Given the description of an element on the screen output the (x, y) to click on. 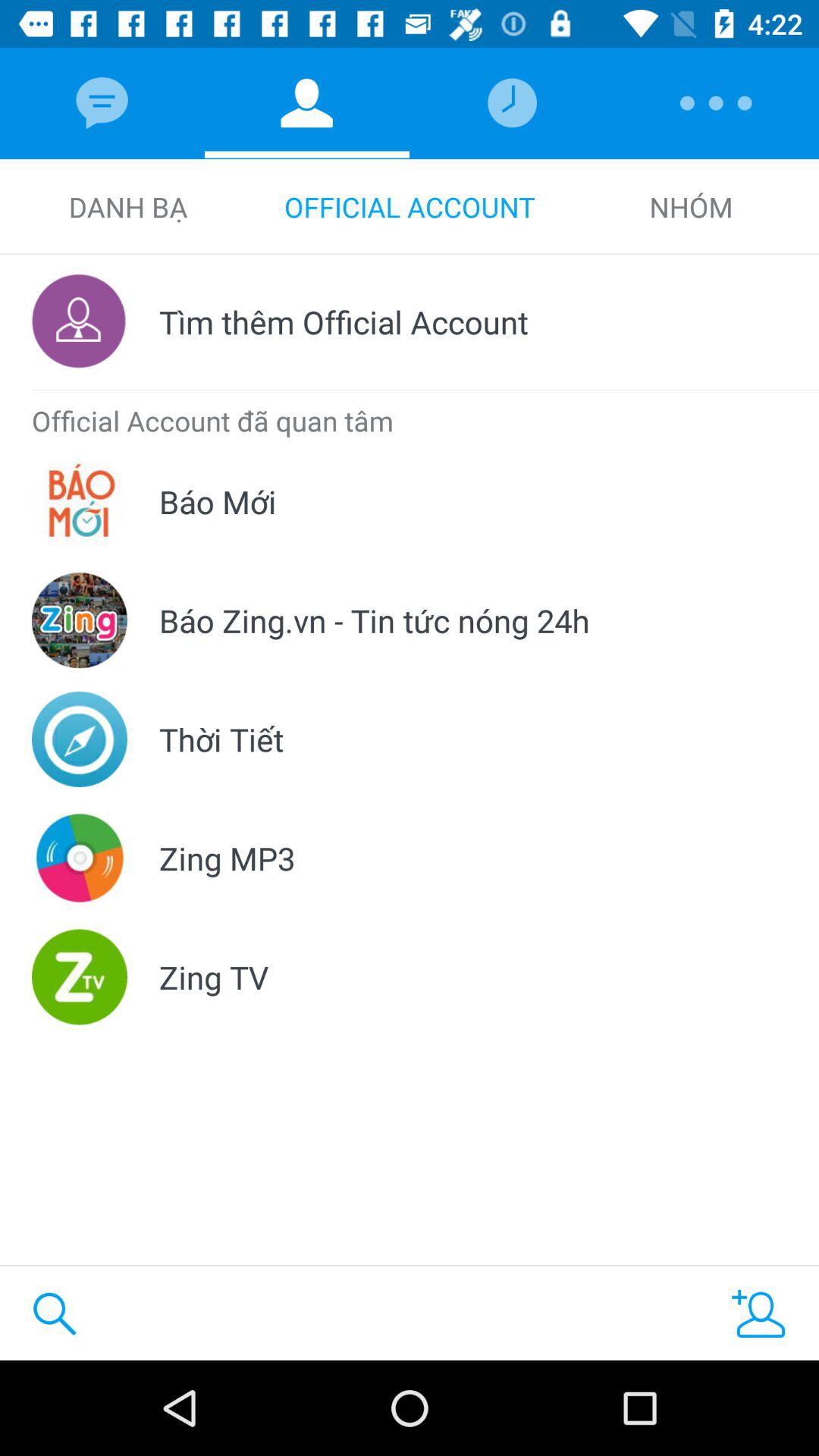
jump until the zing mp3 (227, 857)
